Given the description of an element on the screen output the (x, y) to click on. 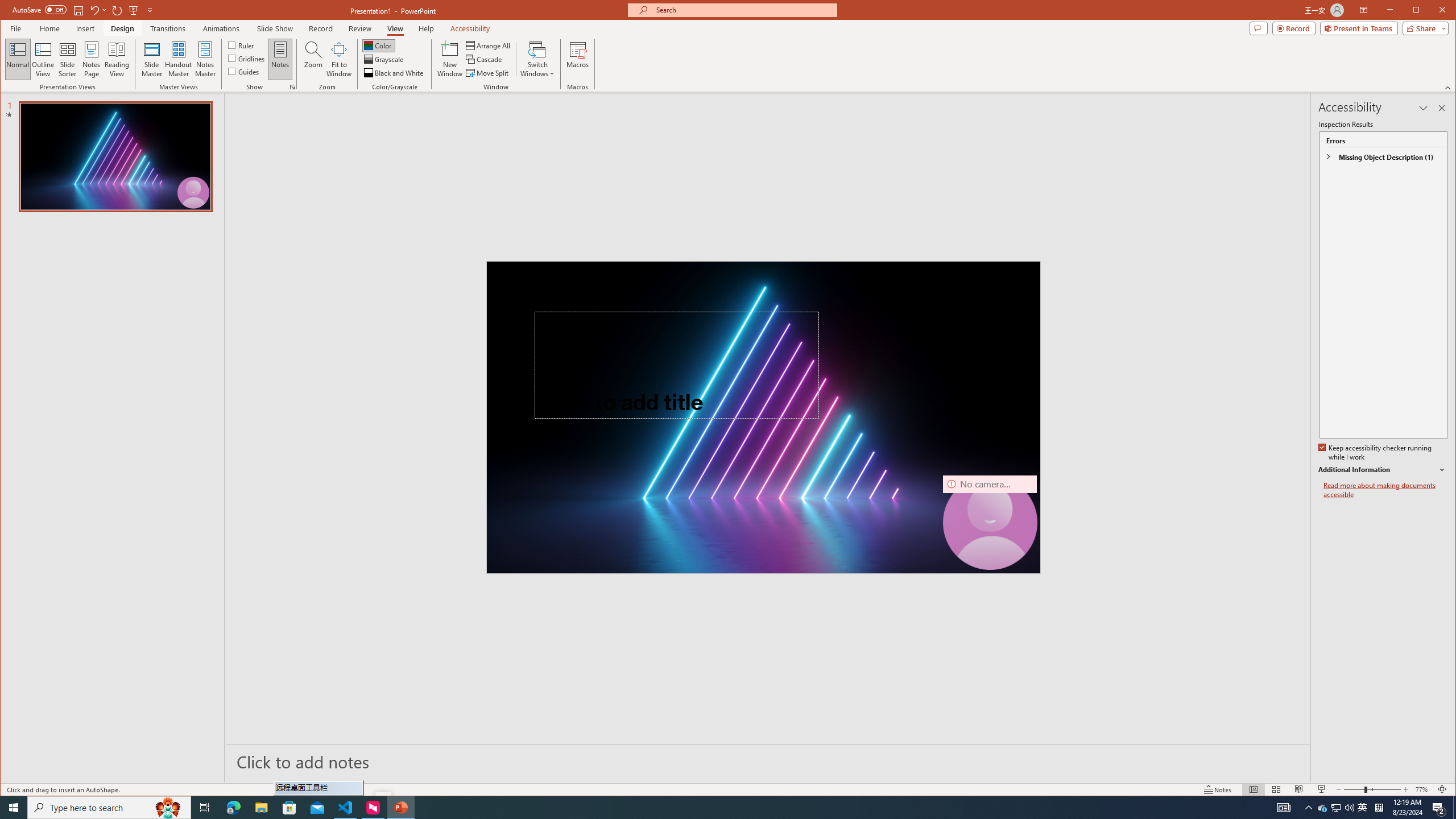
Color (378, 45)
Outline View (42, 59)
Slide Master (151, 59)
Fit to Window (338, 59)
Switch Windows (537, 59)
Title TextBox (676, 365)
Camera 7, No camera detected. (990, 522)
Handout Master (178, 59)
Notes Page (91, 59)
